Given the description of an element on the screen output the (x, y) to click on. 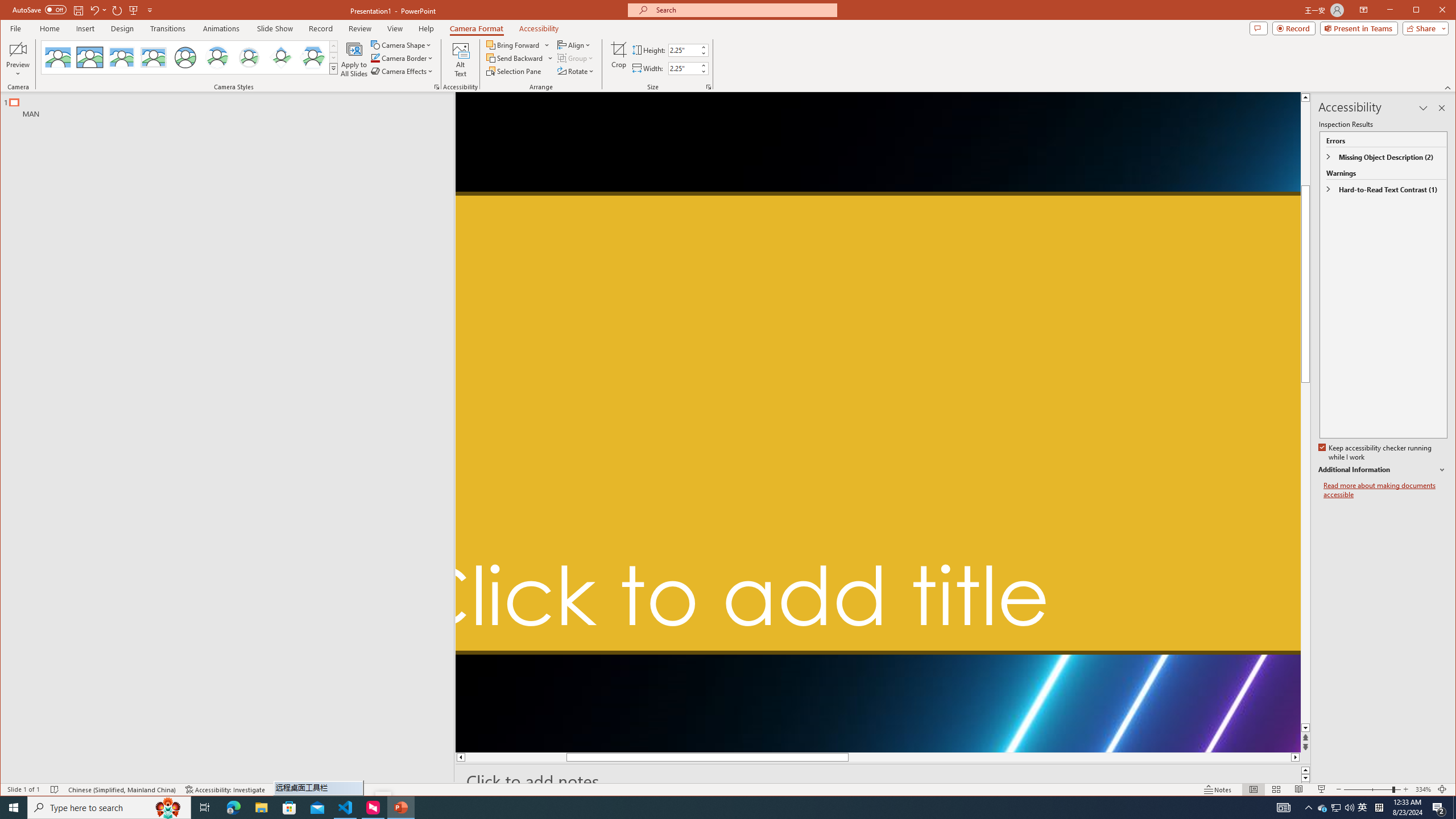
Alt Text (460, 59)
Soft Edge Rectangle (153, 57)
Enable Camera Preview (17, 48)
No Style (58, 57)
Center Shadow Circle (216, 57)
Group (576, 57)
Camera Format (476, 28)
Center Shadow Hexagon (313, 57)
